Given the description of an element on the screen output the (x, y) to click on. 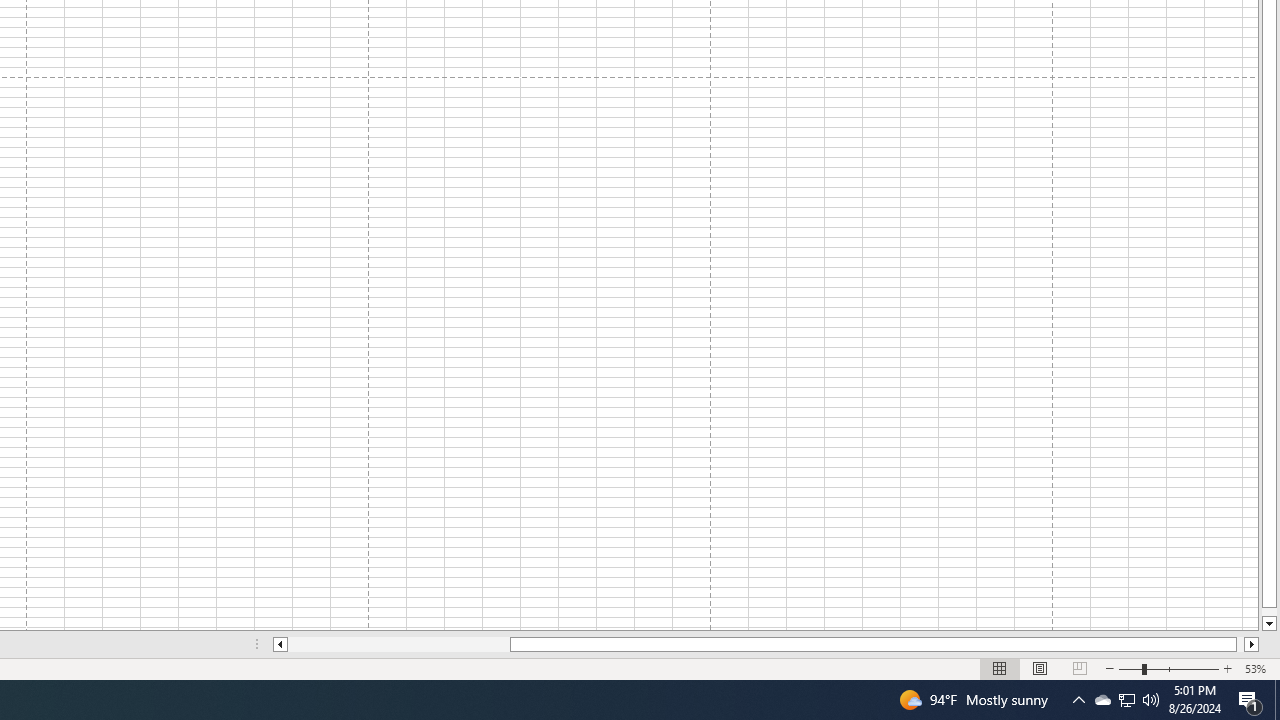
Page left (398, 644)
